Given the description of an element on the screen output the (x, y) to click on. 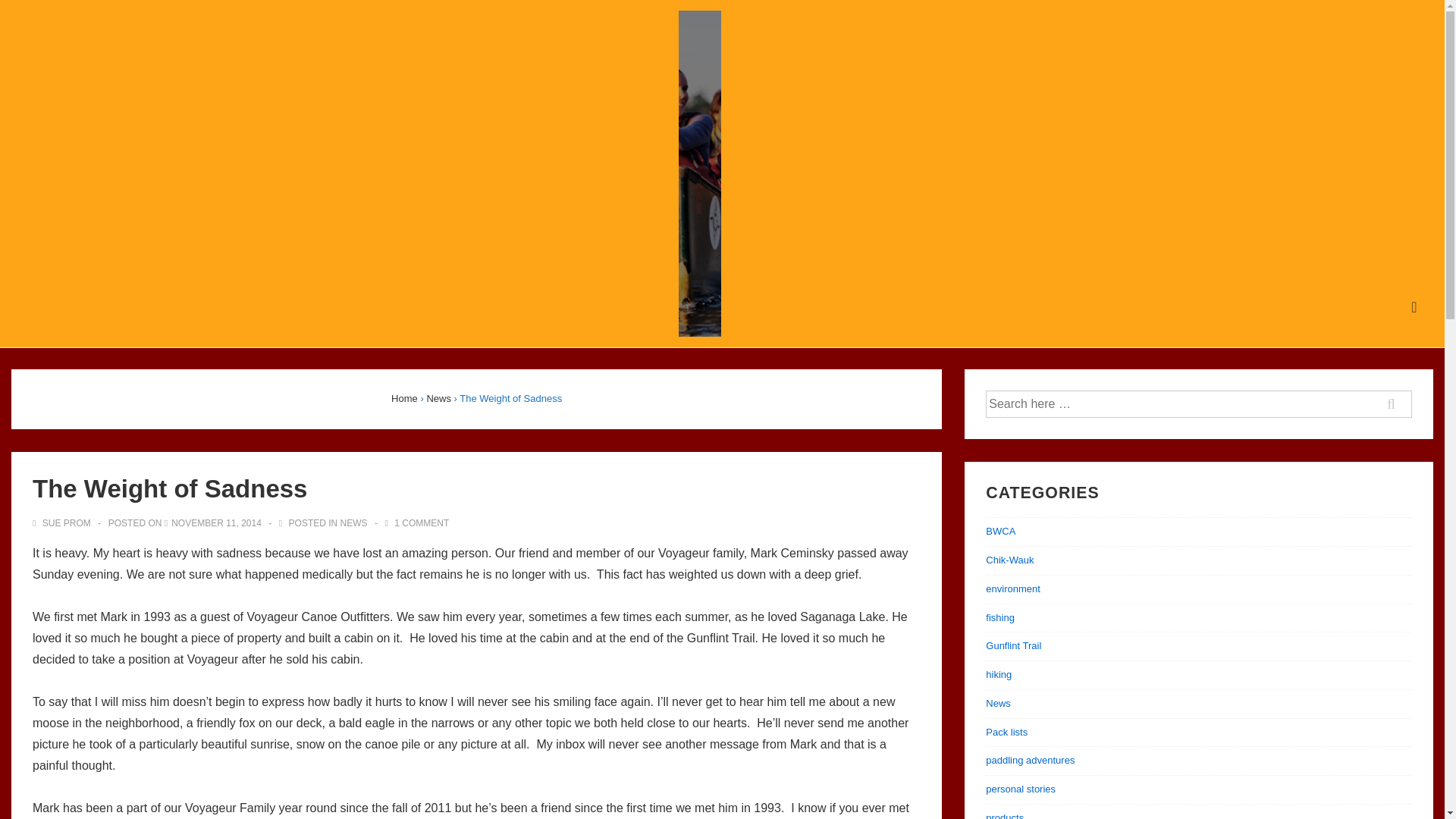
paddling adventures (1029, 759)
View all posts by Sue Prom (62, 522)
NOVEMBER 11, 2014 (216, 522)
environment (1013, 588)
products (1004, 815)
MENU (1414, 307)
fishing (999, 617)
personal stories (1020, 788)
News (438, 398)
Gunflint Trail (1013, 645)
